Given the description of an element on the screen output the (x, y) to click on. 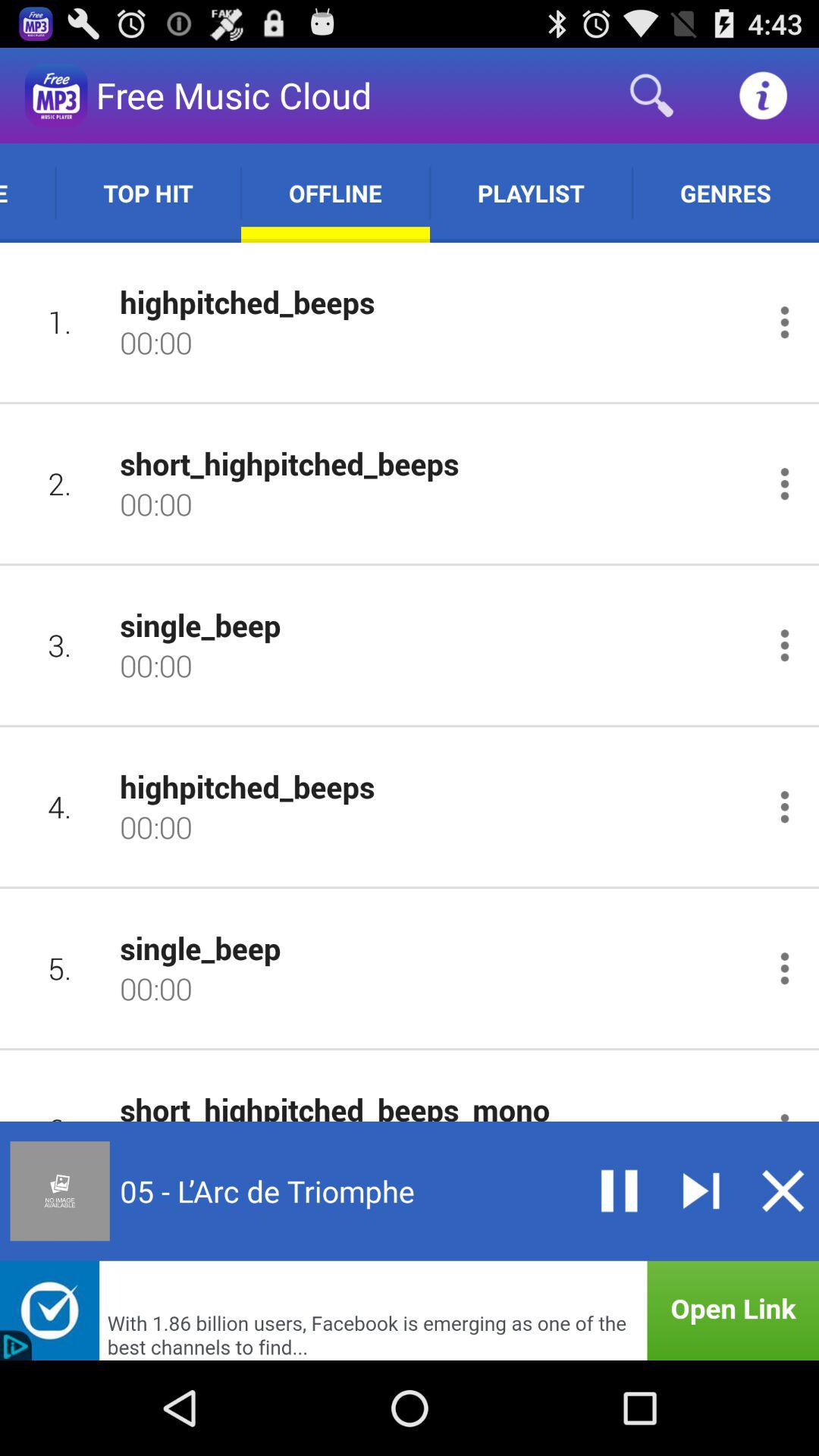
launch app next to the playlist item (725, 192)
